Given the description of an element on the screen output the (x, y) to click on. 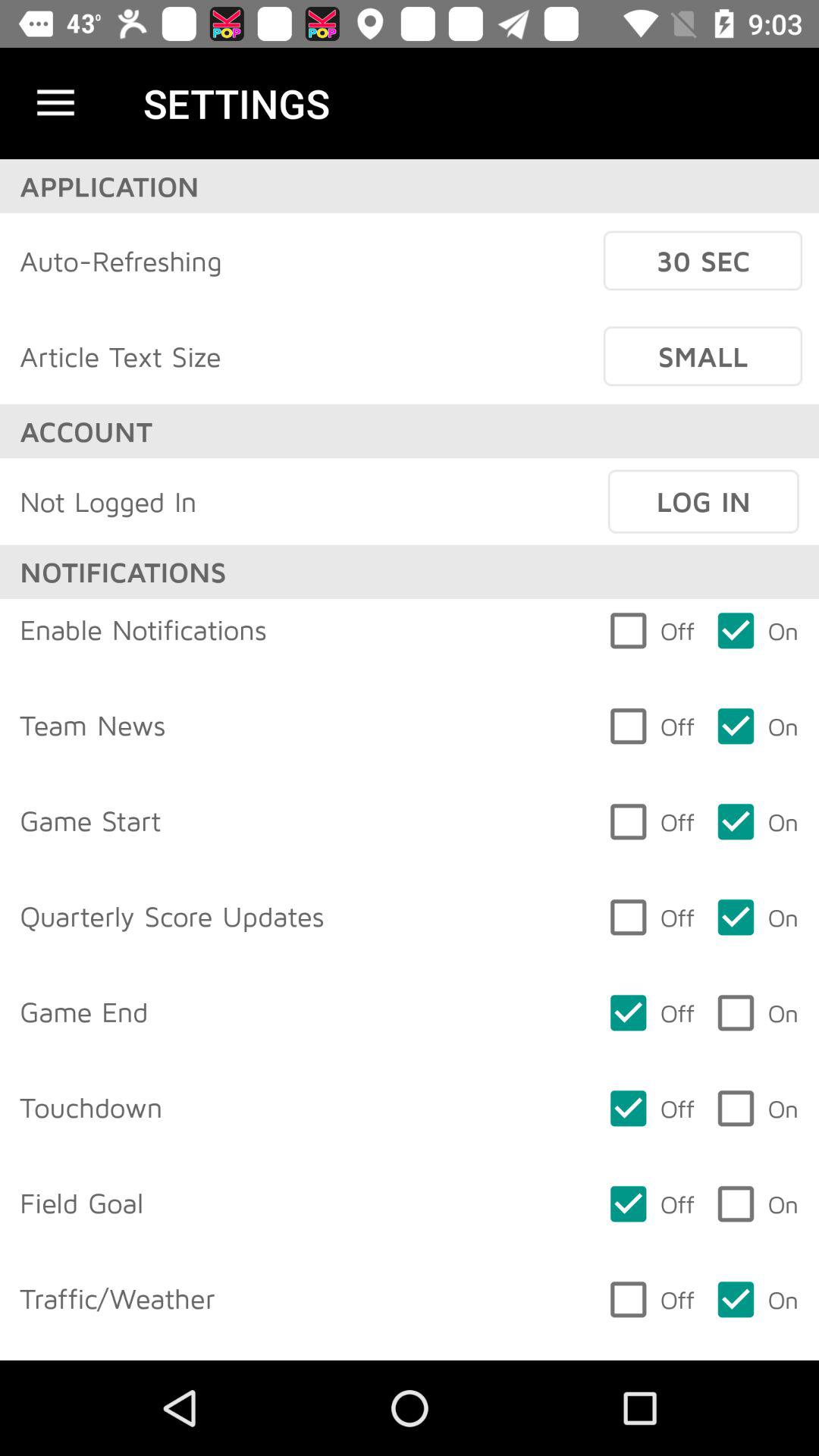
turn on the icon below the small item (703, 501)
